Given the description of an element on the screen output the (x, y) to click on. 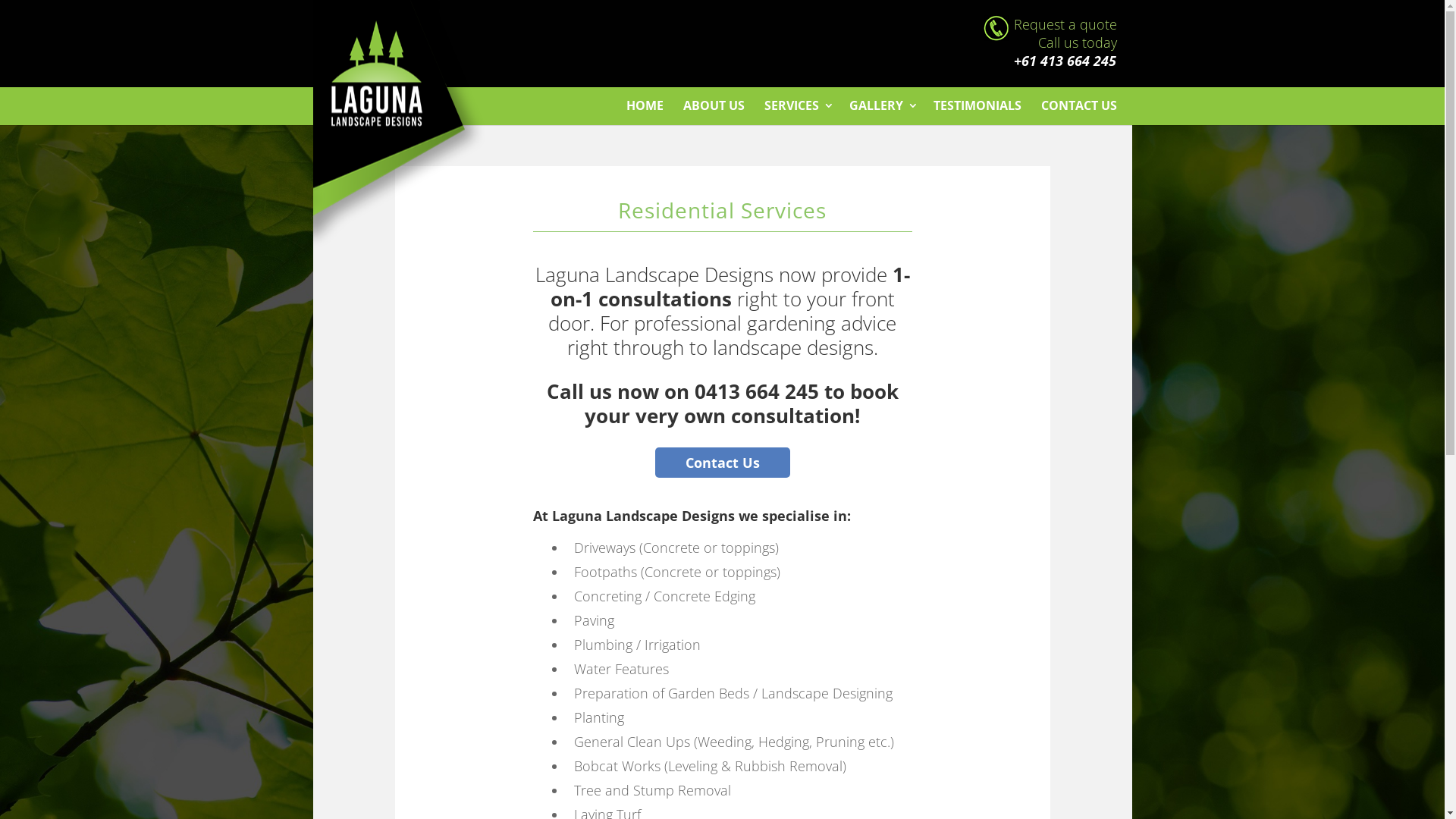
GALLERY Element type: text (883, 105)
TESTIMONIALS Element type: text (976, 105)
HOME Element type: text (644, 105)
ABOUT US Element type: text (712, 105)
CONTACT US Element type: text (1078, 105)
Contact Us Element type: text (722, 462)
SERVICES Element type: text (799, 105)
